Given the description of an element on the screen output the (x, y) to click on. 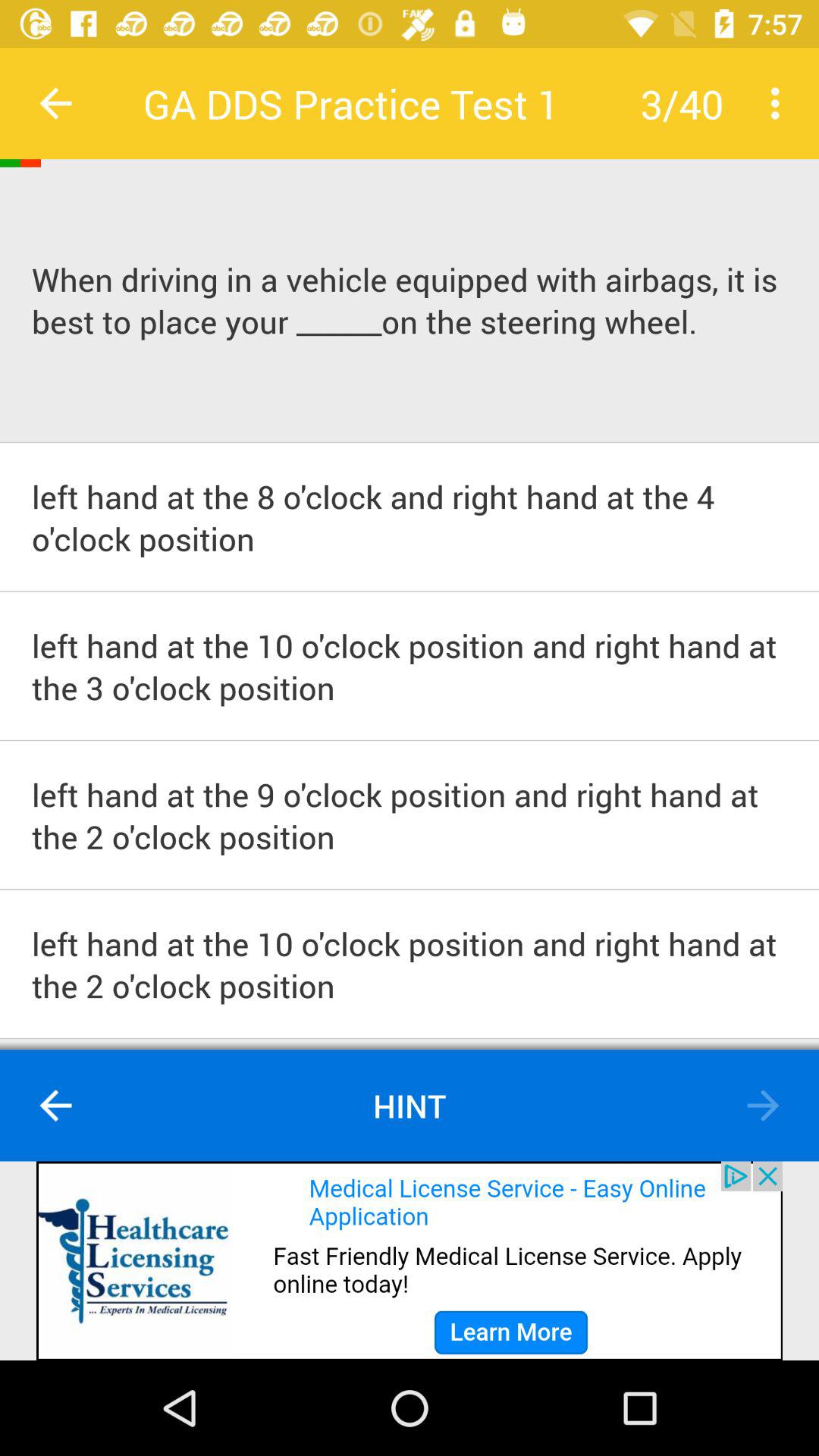
advertising link (409, 1260)
